Given the description of an element on the screen output the (x, y) to click on. 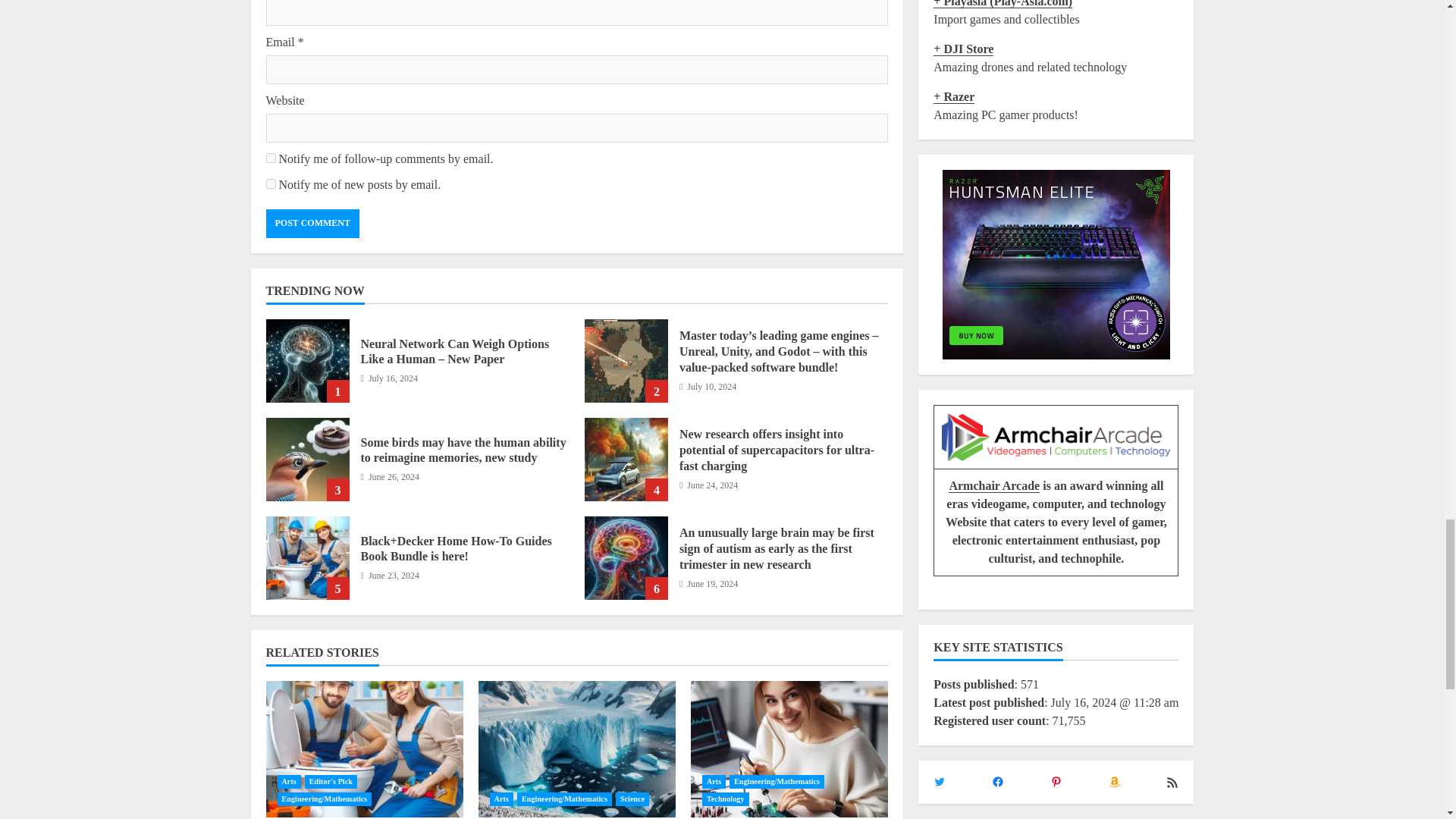
Post Comment (311, 223)
subscribe (269, 184)
subscribe (269, 157)
